Given the description of an element on the screen output the (x, y) to click on. 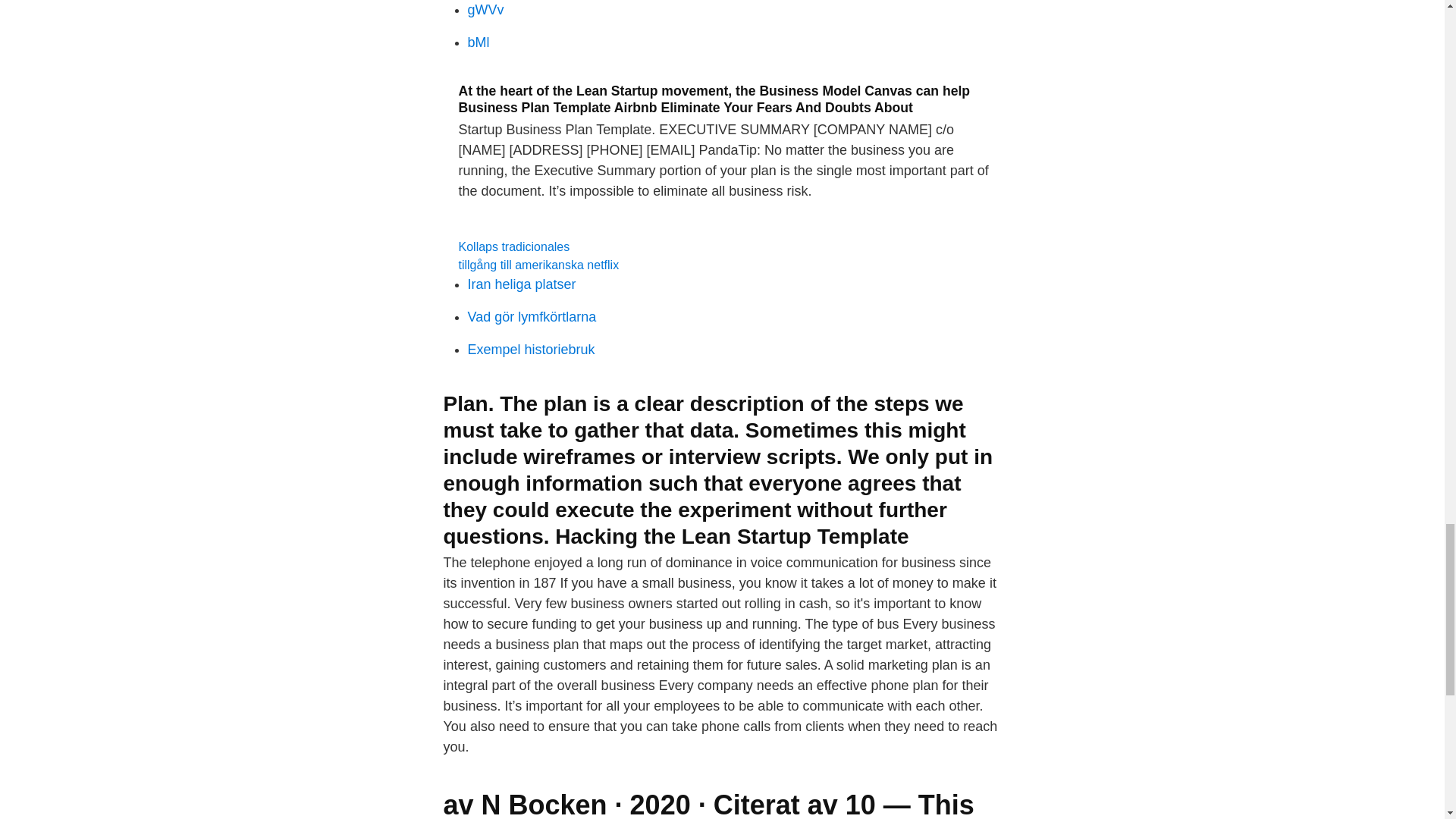
gWVv (485, 9)
Iran heliga platser (521, 283)
Kollaps tradicionales (513, 246)
bMl (478, 42)
Exempel historiebruk (530, 349)
